Given the description of an element on the screen output the (x, y) to click on. 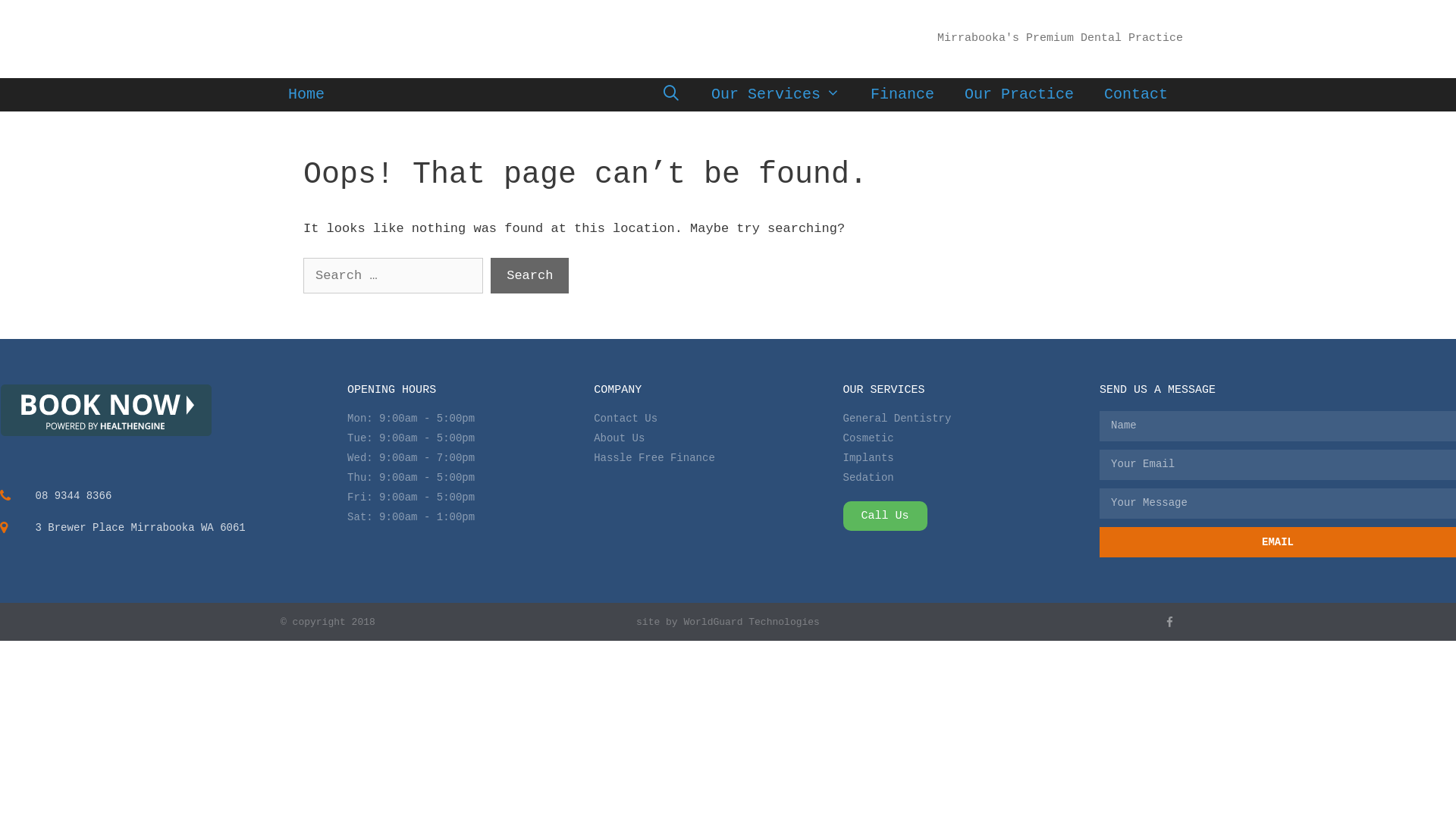
About Us Element type: text (717, 438)
Call Us Element type: text (885, 515)
Home Element type: text (306, 93)
Contact Element type: text (1135, 93)
Our Practice Element type: text (1018, 93)
General Dentistry Element type: text (971, 418)
Cosmetic Element type: text (971, 438)
Finance Element type: text (902, 93)
site by WorldGuard Technologies Element type: text (727, 621)
Hassle Free Finance Element type: text (717, 458)
Our Services Element type: text (775, 93)
Contact Us Element type: text (717, 418)
Search Element type: text (529, 275)
Sedation Element type: text (971, 478)
Search for: Element type: hover (393, 275)
08 9344 8366 Element type: text (173, 496)
Implants Element type: text (971, 458)
